Given the description of an element on the screen output the (x, y) to click on. 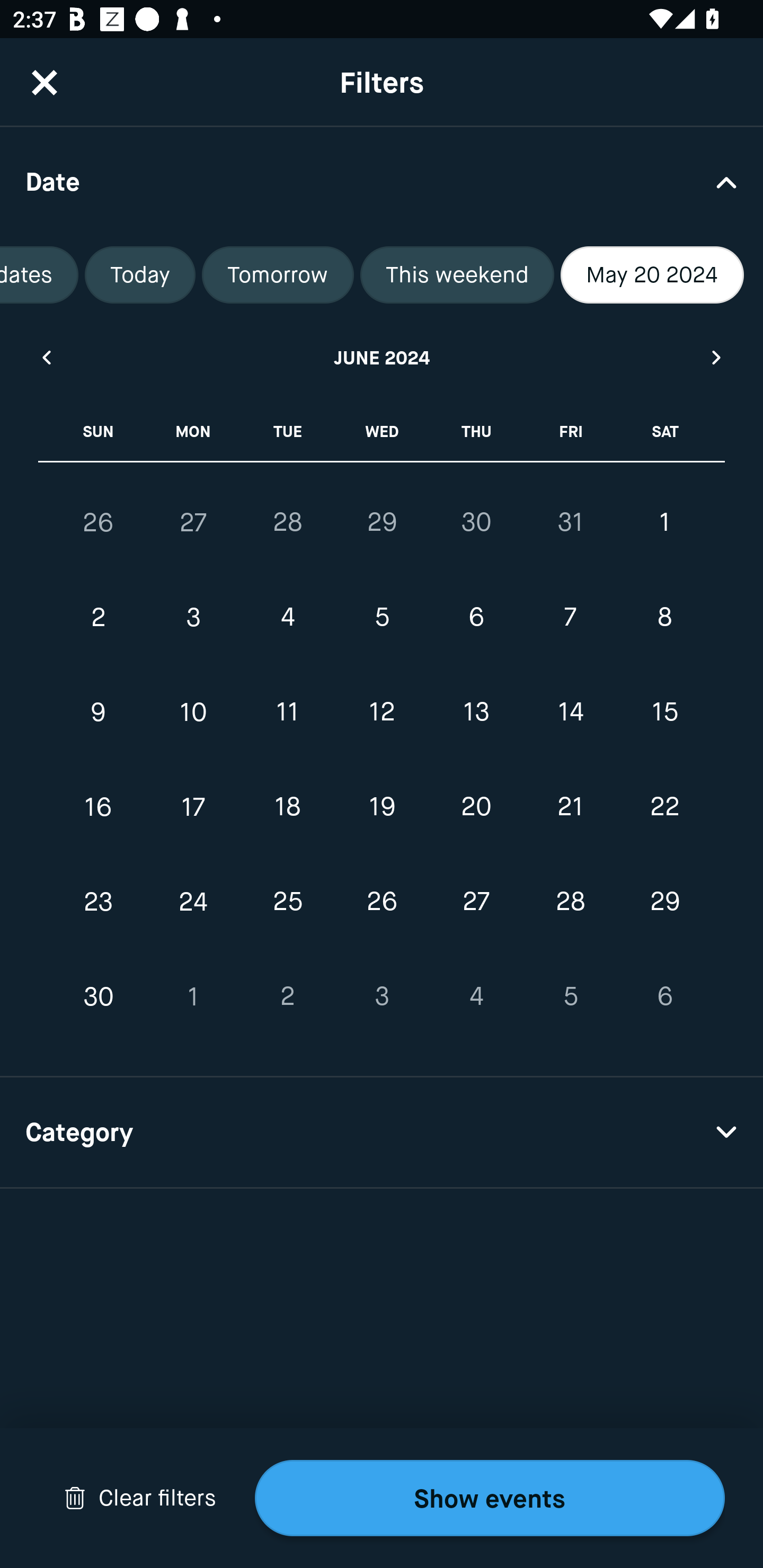
CloseButton (44, 82)
Date Drop Down Arrow (381, 181)
Today (139, 274)
Tomorrow (278, 274)
This weekend (456, 274)
May 20 2024 (651, 274)
Previous (45, 357)
Next (717, 357)
26 (98, 522)
27 (192, 522)
28 (287, 522)
29 (381, 522)
30 (475, 522)
31 (570, 522)
1 (664, 522)
2 (98, 617)
3 (192, 617)
4 (287, 617)
5 (381, 617)
6 (475, 617)
7 (570, 617)
8 (664, 617)
9 (98, 711)
10 (192, 711)
11 (287, 711)
12 (381, 711)
13 (475, 711)
14 (570, 711)
15 (664, 711)
16 (98, 806)
17 (192, 806)
18 (287, 806)
19 (381, 806)
20 (475, 806)
21 (570, 806)
22 (664, 806)
23 (98, 901)
24 (192, 901)
25 (287, 901)
26 (381, 901)
27 (475, 901)
28 (570, 901)
29 (664, 901)
30 (98, 996)
1 (192, 996)
2 (287, 996)
3 (381, 996)
4 (475, 996)
5 (570, 996)
6 (664, 996)
Category Drop Down Arrow (381, 1132)
Drop Down Arrow Clear filters (139, 1497)
Show events (489, 1497)
